Given the description of an element on the screen output the (x, y) to click on. 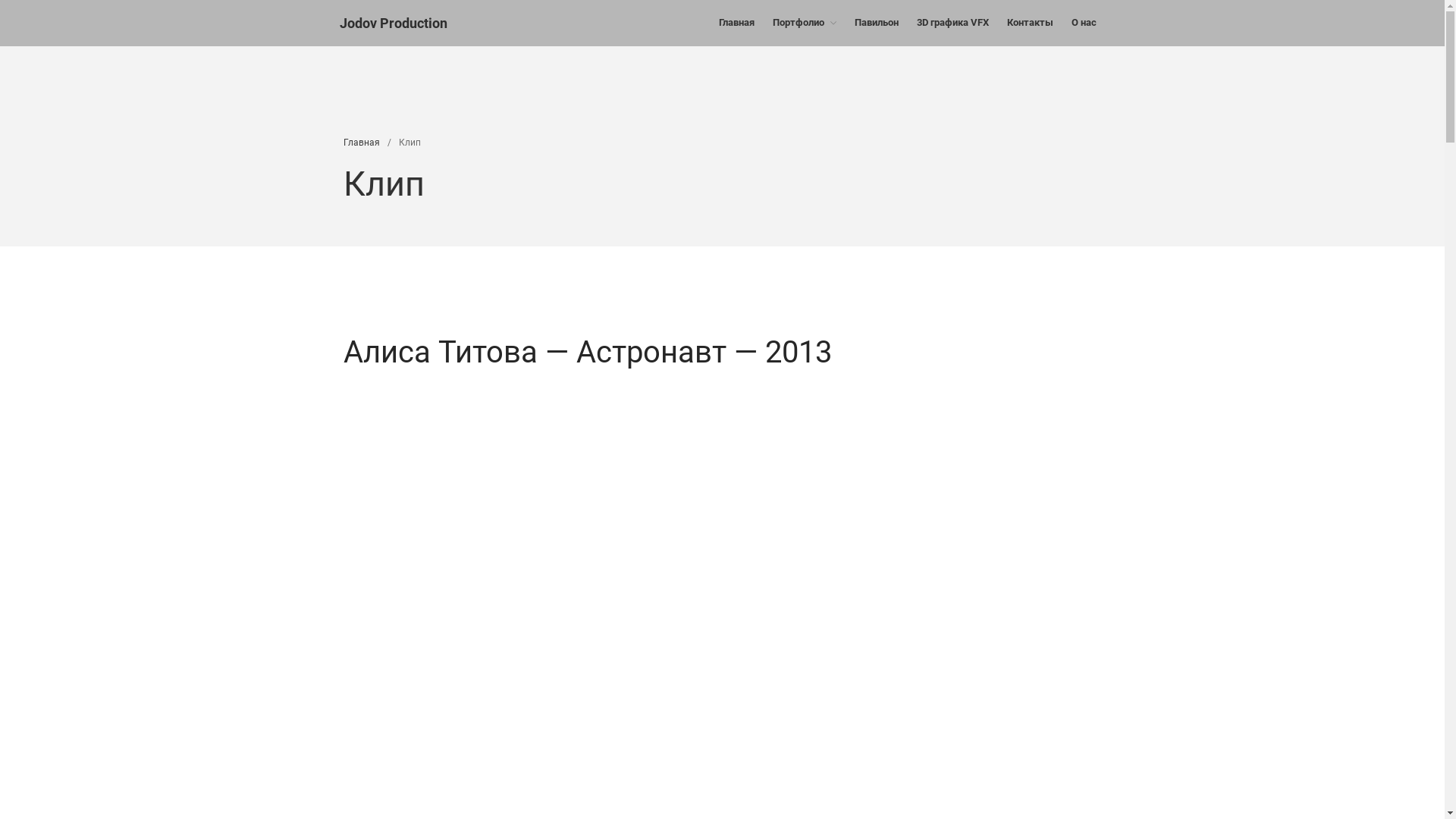
Jodov Production Element type: text (393, 23)
